Given the description of an element on the screen output the (x, y) to click on. 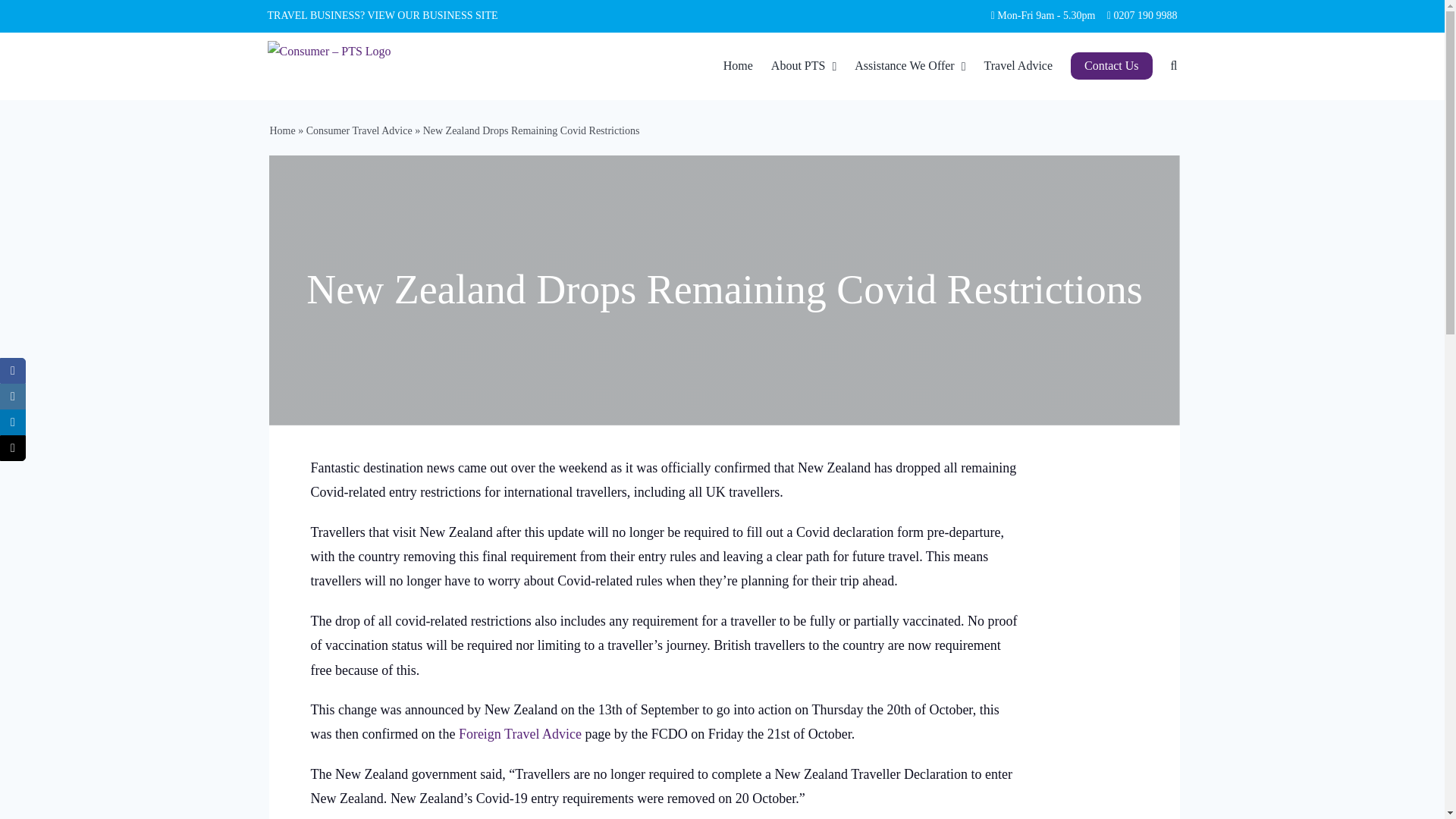
About PTS (803, 65)
LinkedIn (13, 421)
Travel Advice (1018, 65)
Contact Us (1111, 65)
Facebook (13, 370)
Home (282, 130)
Consumer Travel Advice (358, 130)
0207 190 9988 (1144, 15)
Instagram (13, 396)
Foreign Travel Advice (519, 734)
X (13, 447)
Assistance We Offer (909, 65)
TRAVEL BUSINESS? VIEW OUR BUSINESS SITE (381, 15)
